Given the description of an element on the screen output the (x, y) to click on. 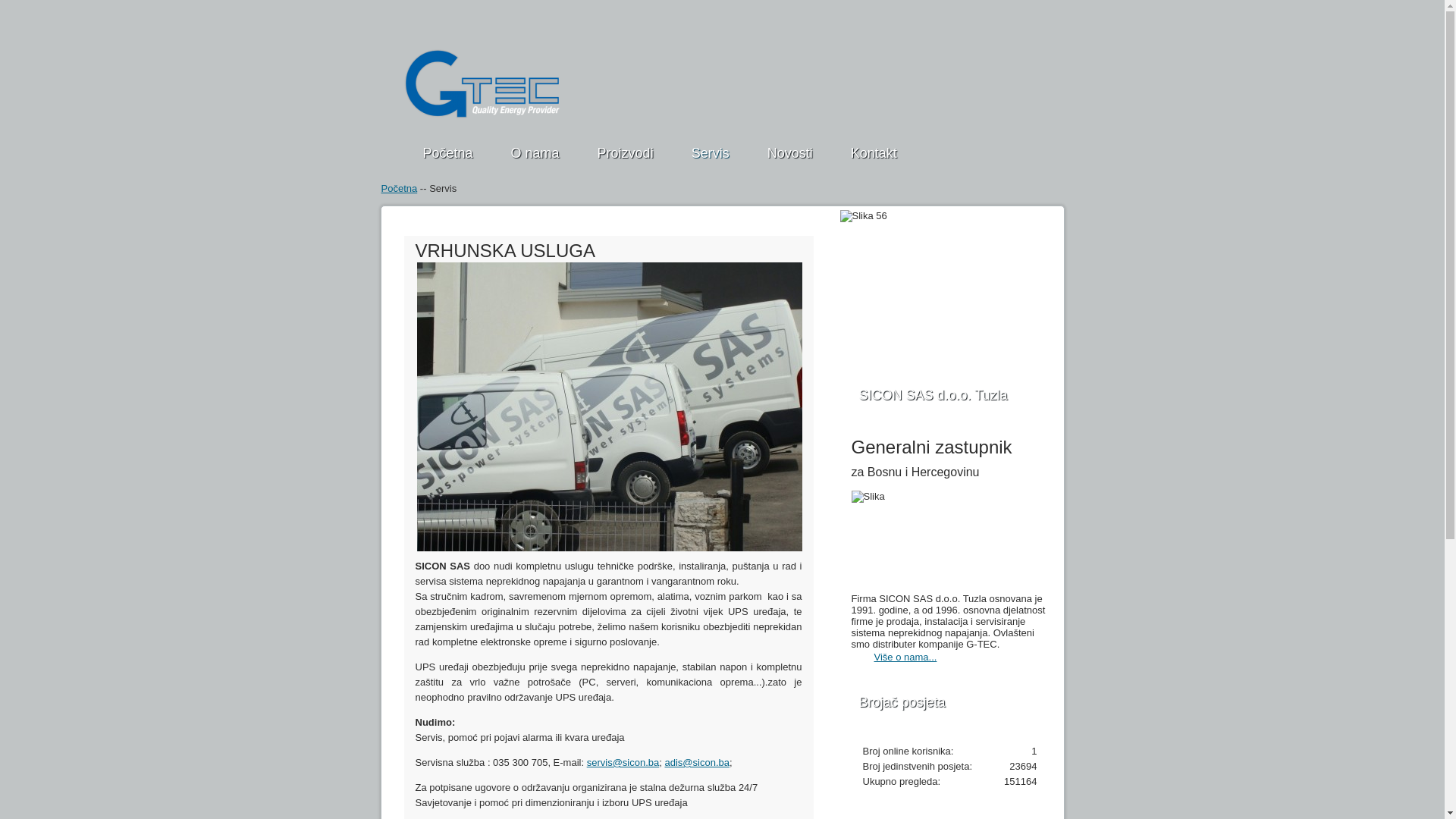
O nama Element type: text (536, 153)
adis@sicon.ba Element type: text (696, 762)
Servis Element type: text (712, 153)
servis@sicon.ba Element type: text (622, 762)
Novosti Element type: text (792, 153)
Proizvodi Element type: text (627, 153)
Kontakt Element type: text (875, 153)
